Given the description of an element on the screen output the (x, y) to click on. 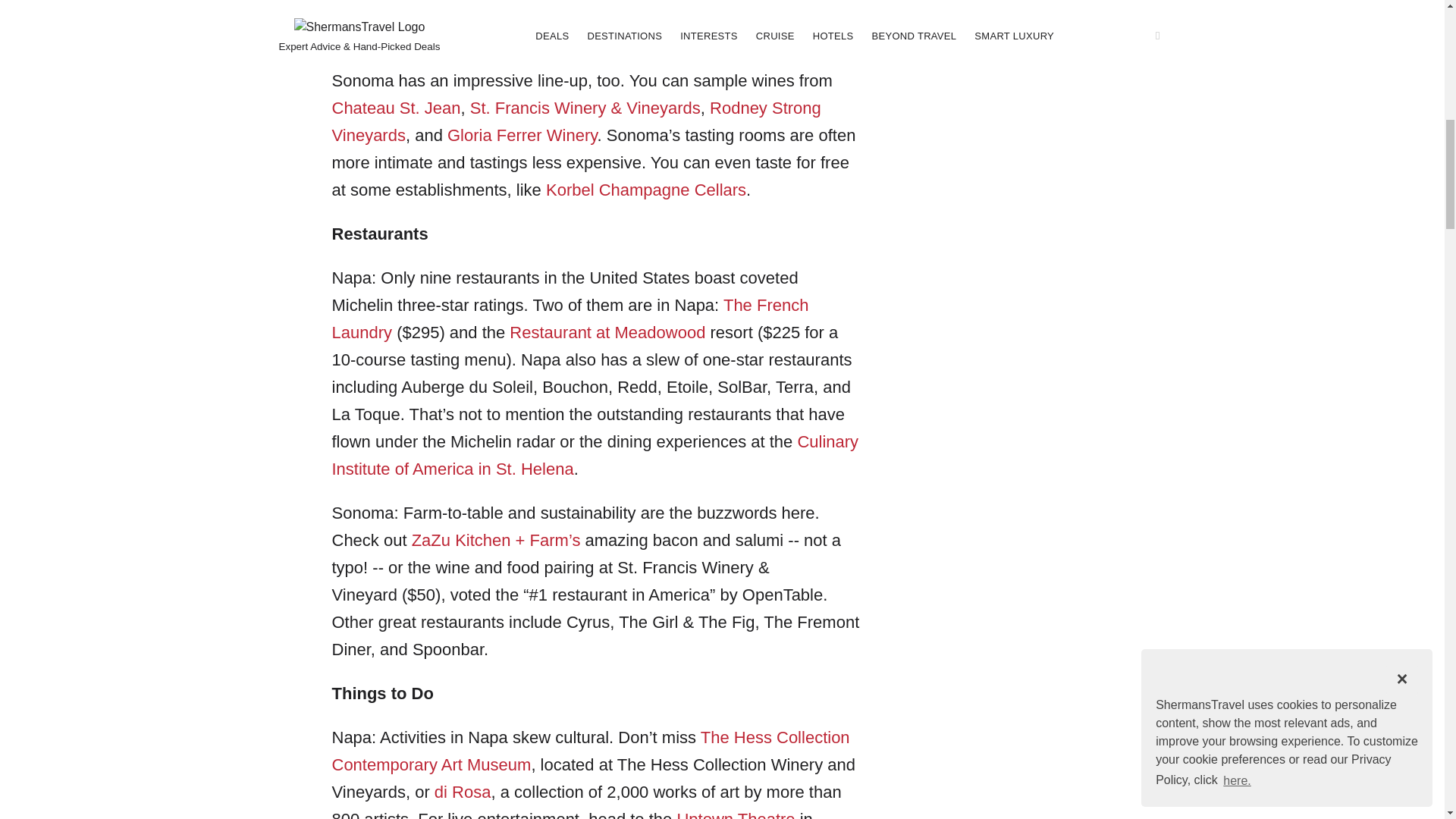
Rodney Strong Vineyards (576, 121)
St. Francis Winery (538, 107)
Chateau St. Jean (396, 107)
Gloria Ferrer Winery (521, 135)
Korbel Champagne Cellars (645, 189)
